Given the description of an element on the screen output the (x, y) to click on. 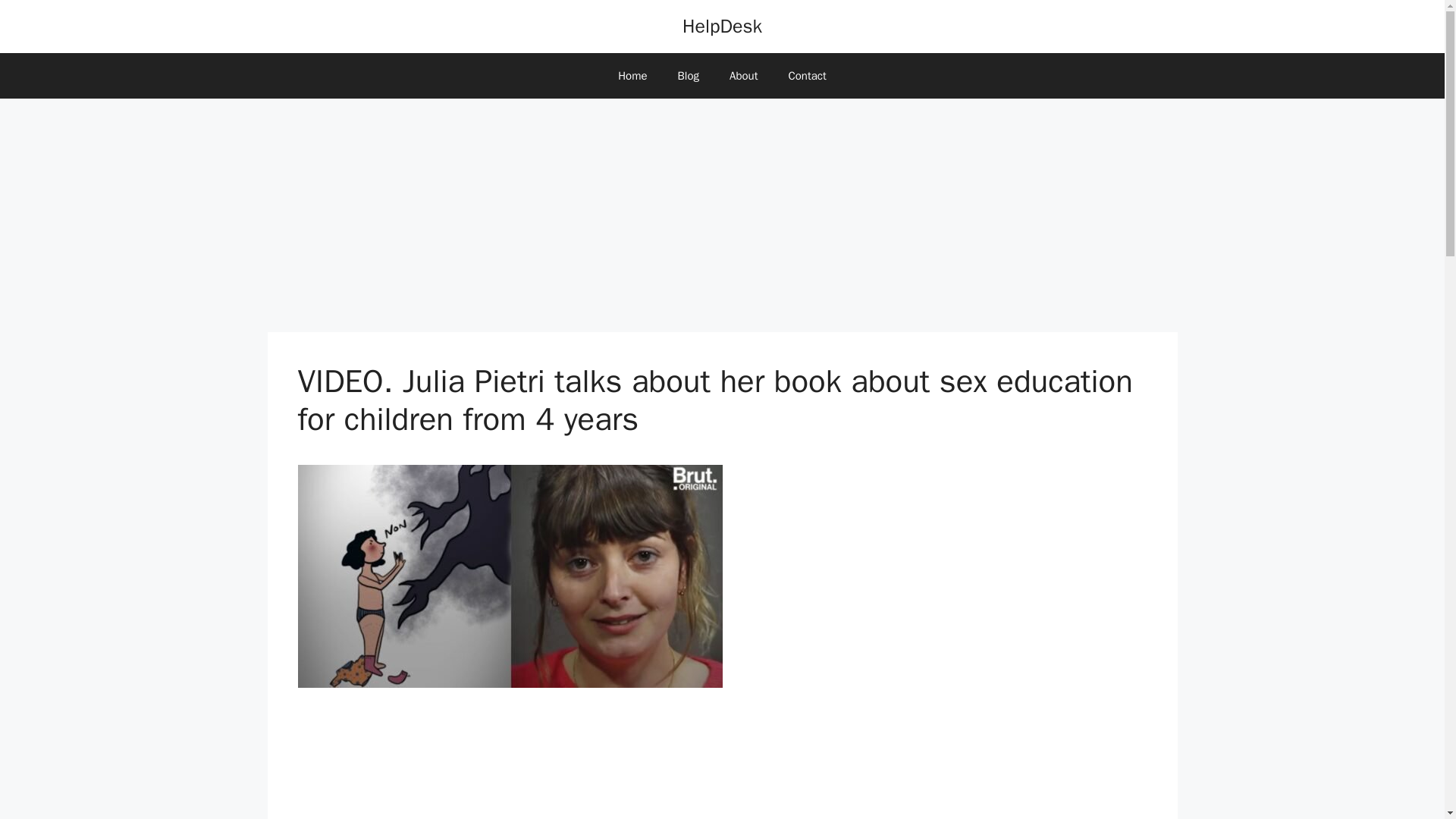
Advertisement (722, 765)
Contact (807, 75)
Home (632, 75)
HelpDesk (721, 25)
About (743, 75)
Blog (688, 75)
